Given the description of an element on the screen output the (x, y) to click on. 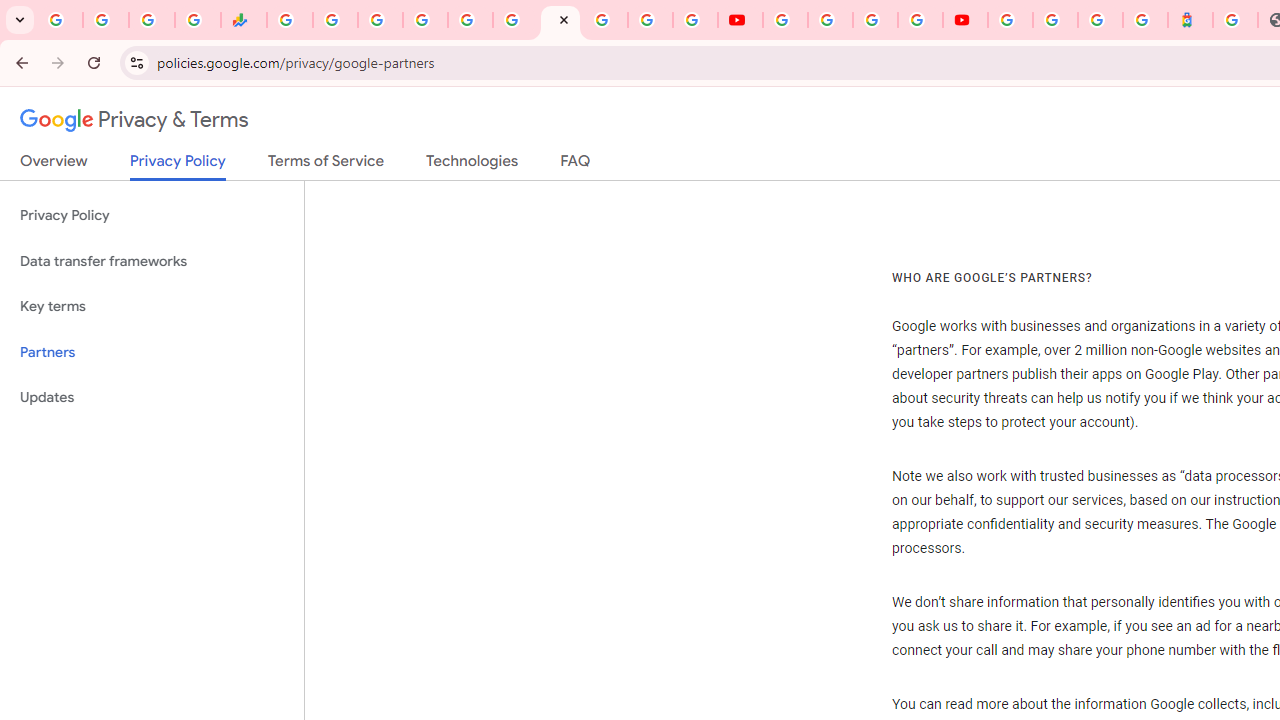
YouTube (740, 20)
YouTube (784, 20)
Sign in - Google Accounts (1055, 20)
Privacy Checkup (695, 20)
